Given the description of an element on the screen output the (x, y) to click on. 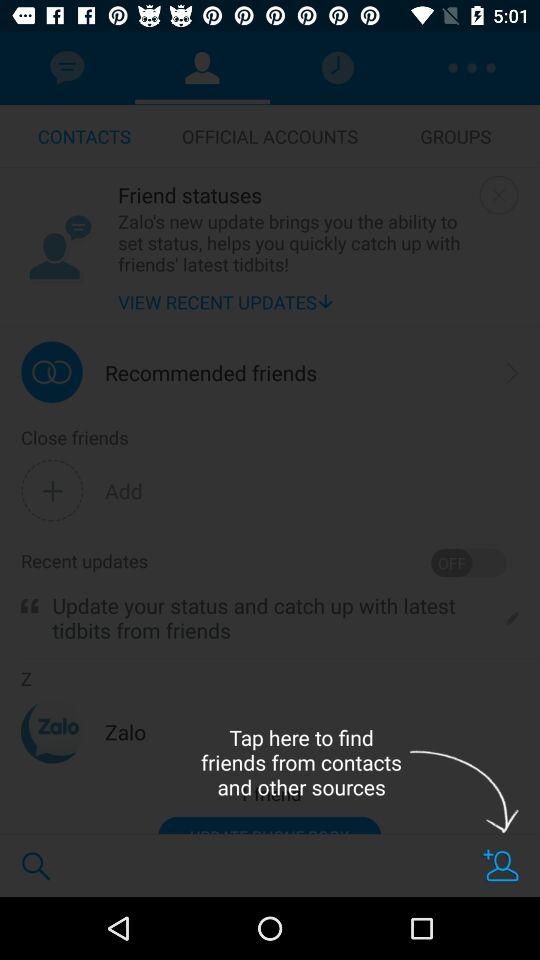
turn off item next to the update your status (29, 606)
